Given the description of an element on the screen output the (x, y) to click on. 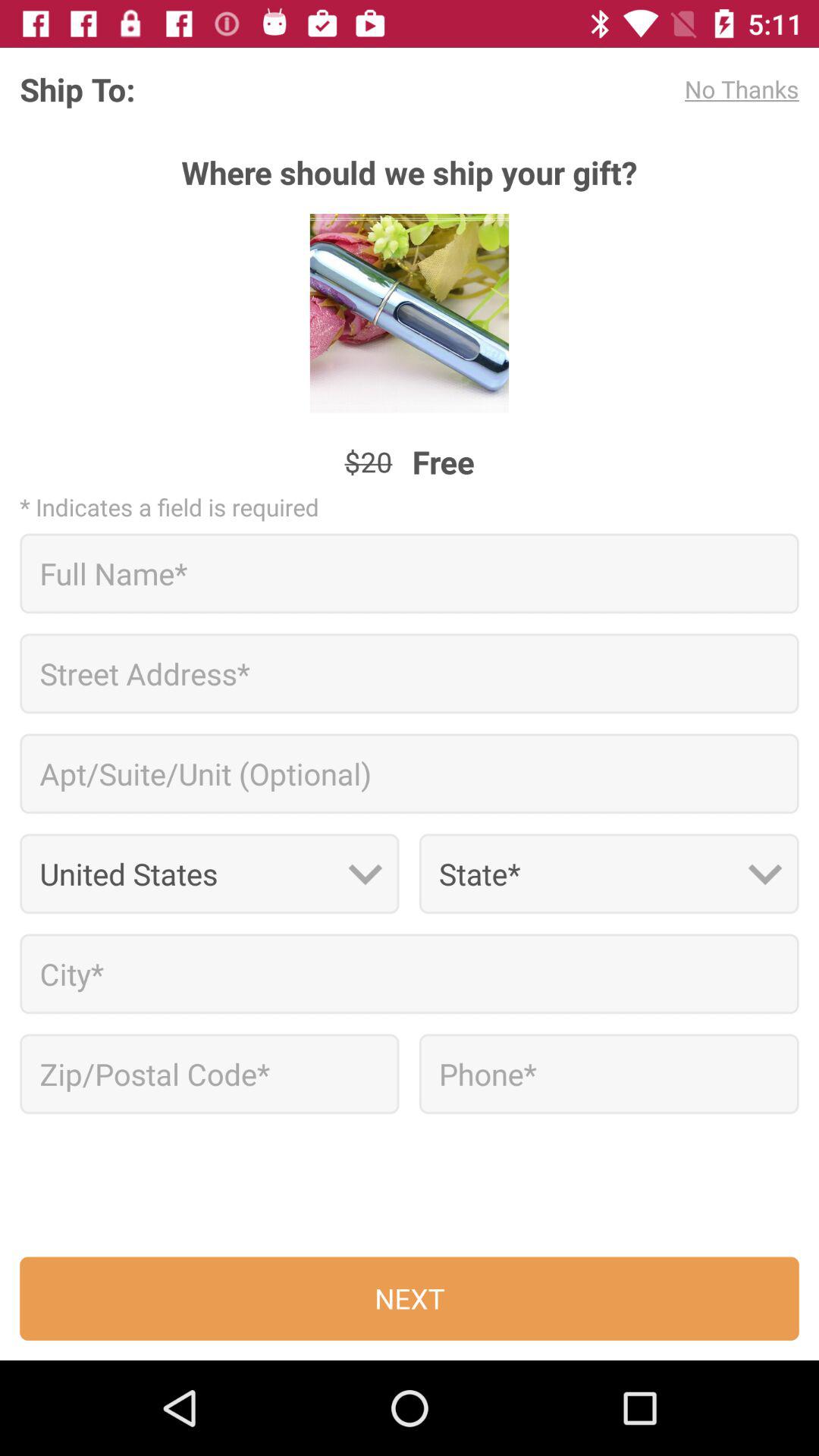
enter zip code (209, 1073)
